Given the description of an element on the screen output the (x, y) to click on. 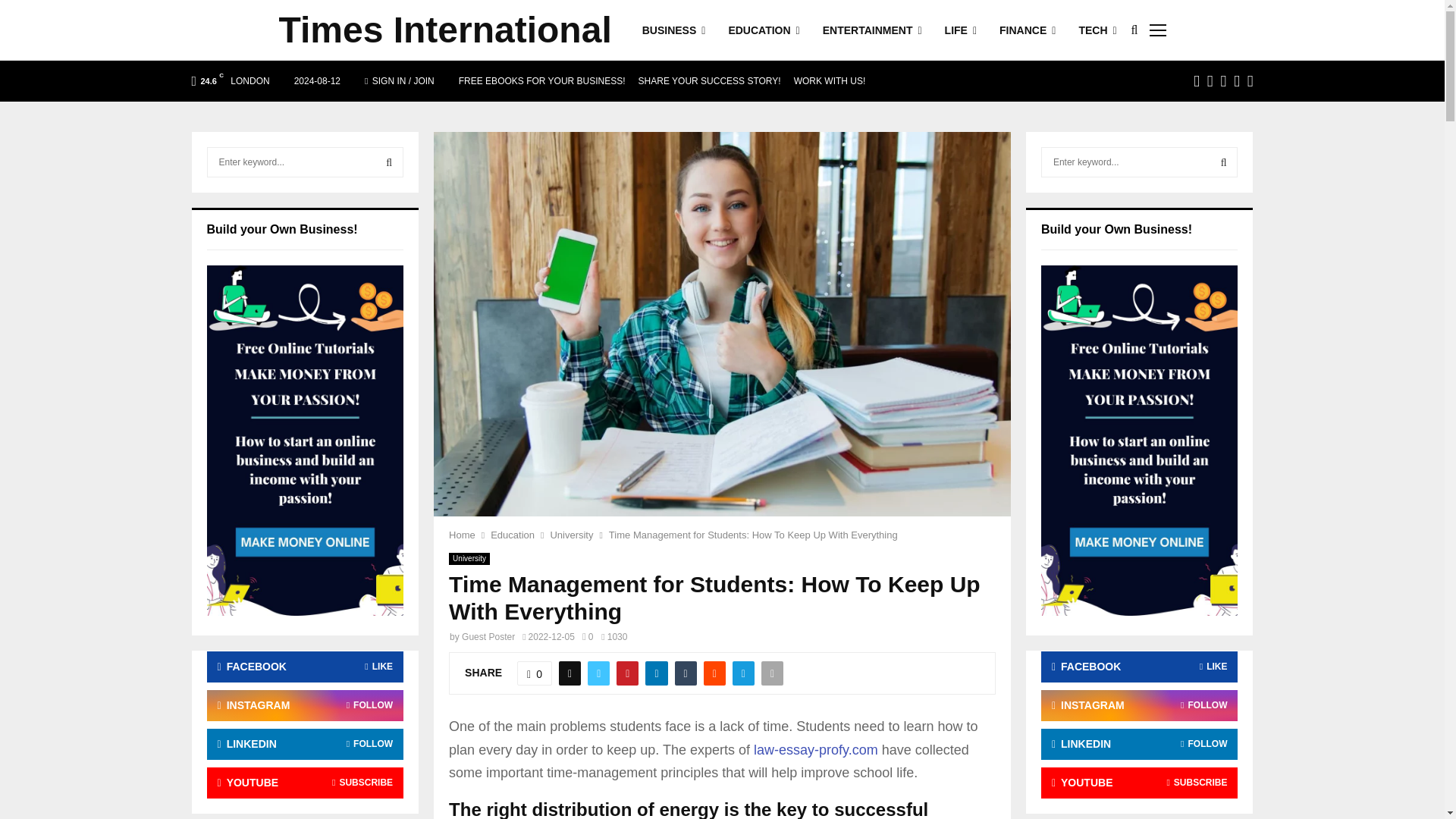
Times International (445, 30)
EDUCATION (763, 30)
BUSINESS (674, 30)
